Given the description of an element on the screen output the (x, y) to click on. 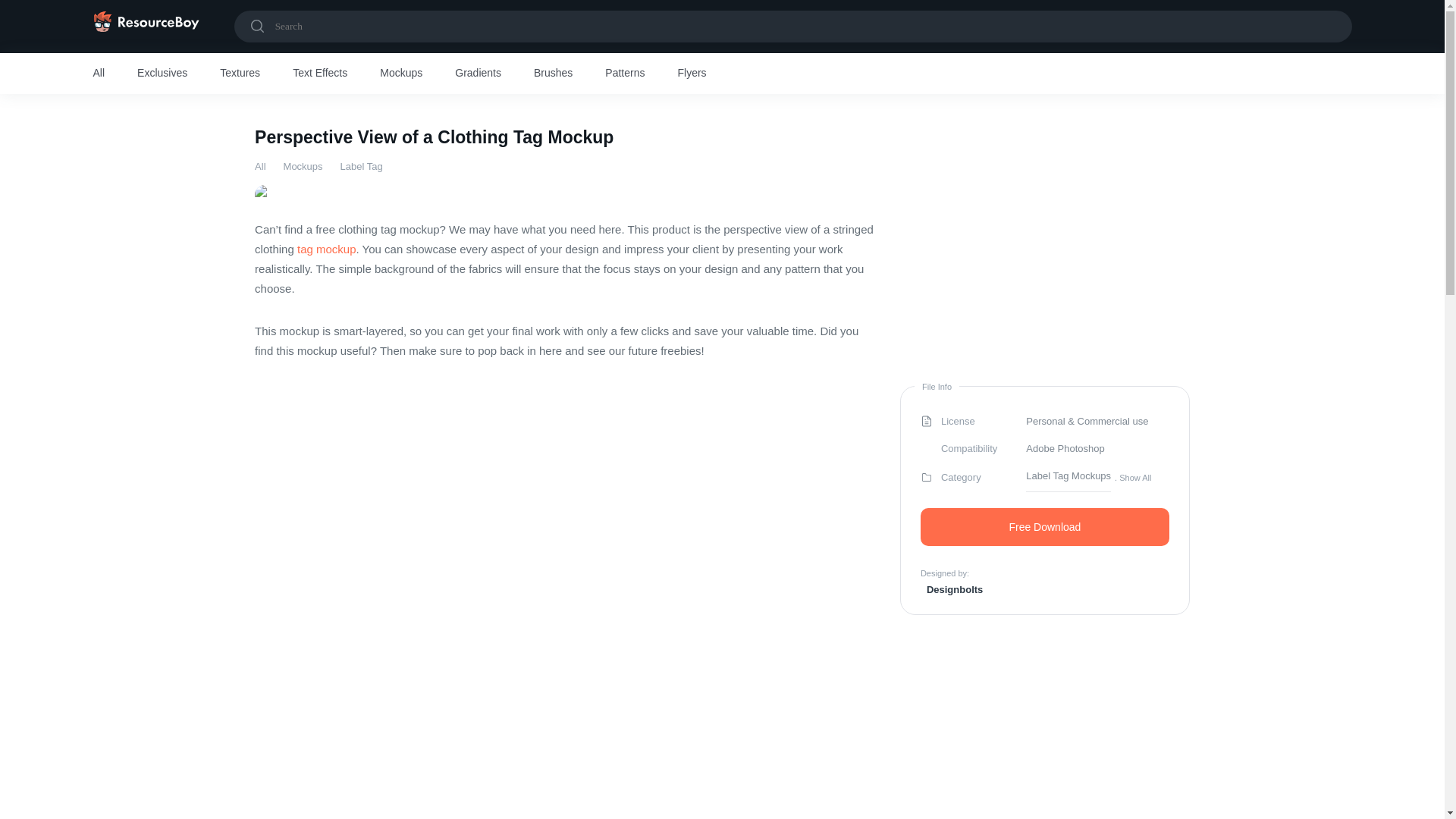
Text Effects (319, 73)
Mockups (401, 73)
Patterns (625, 73)
All (259, 165)
Label Tag Mockups (1068, 476)
Exclusives (161, 73)
tag mockup (326, 248)
Textures (239, 73)
Free Download (1044, 526)
Designbolts (951, 588)
